Given the description of an element on the screen output the (x, y) to click on. 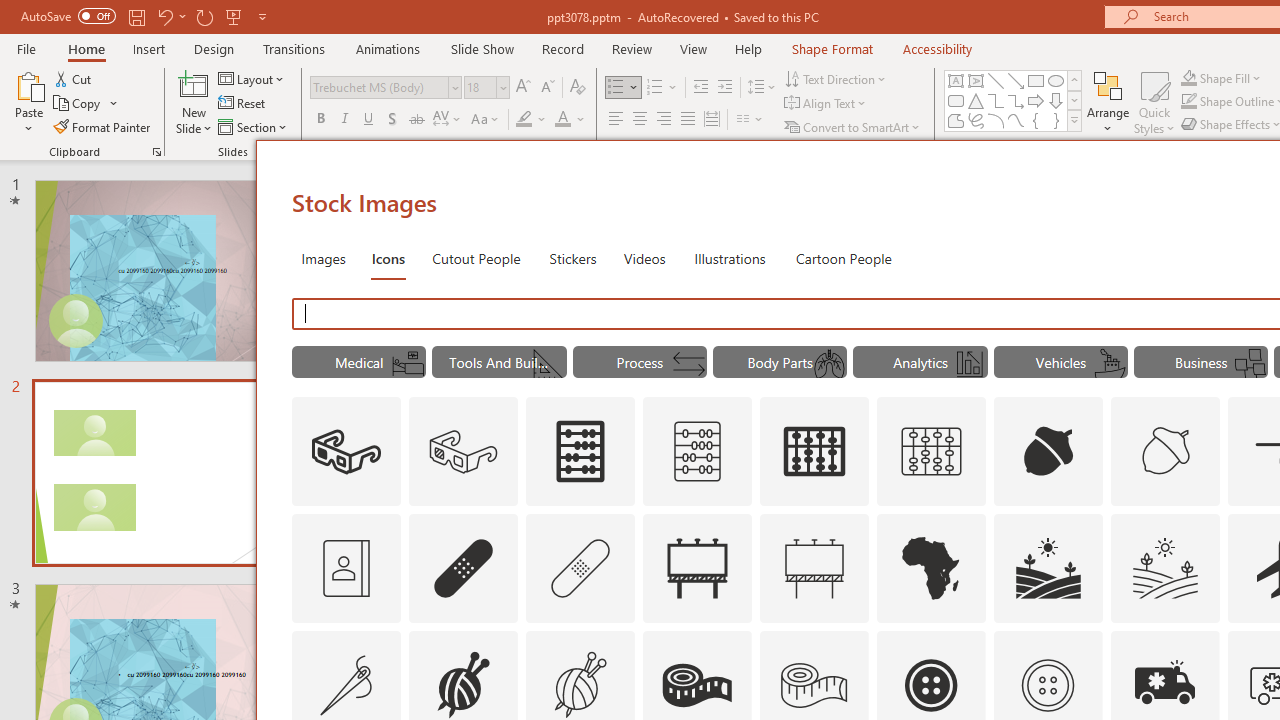
AutomationID: Icons_Agriculture_M (1165, 568)
AutomationID: Icons_3dGlasses_M (463, 452)
